Given the description of an element on the screen output the (x, y) to click on. 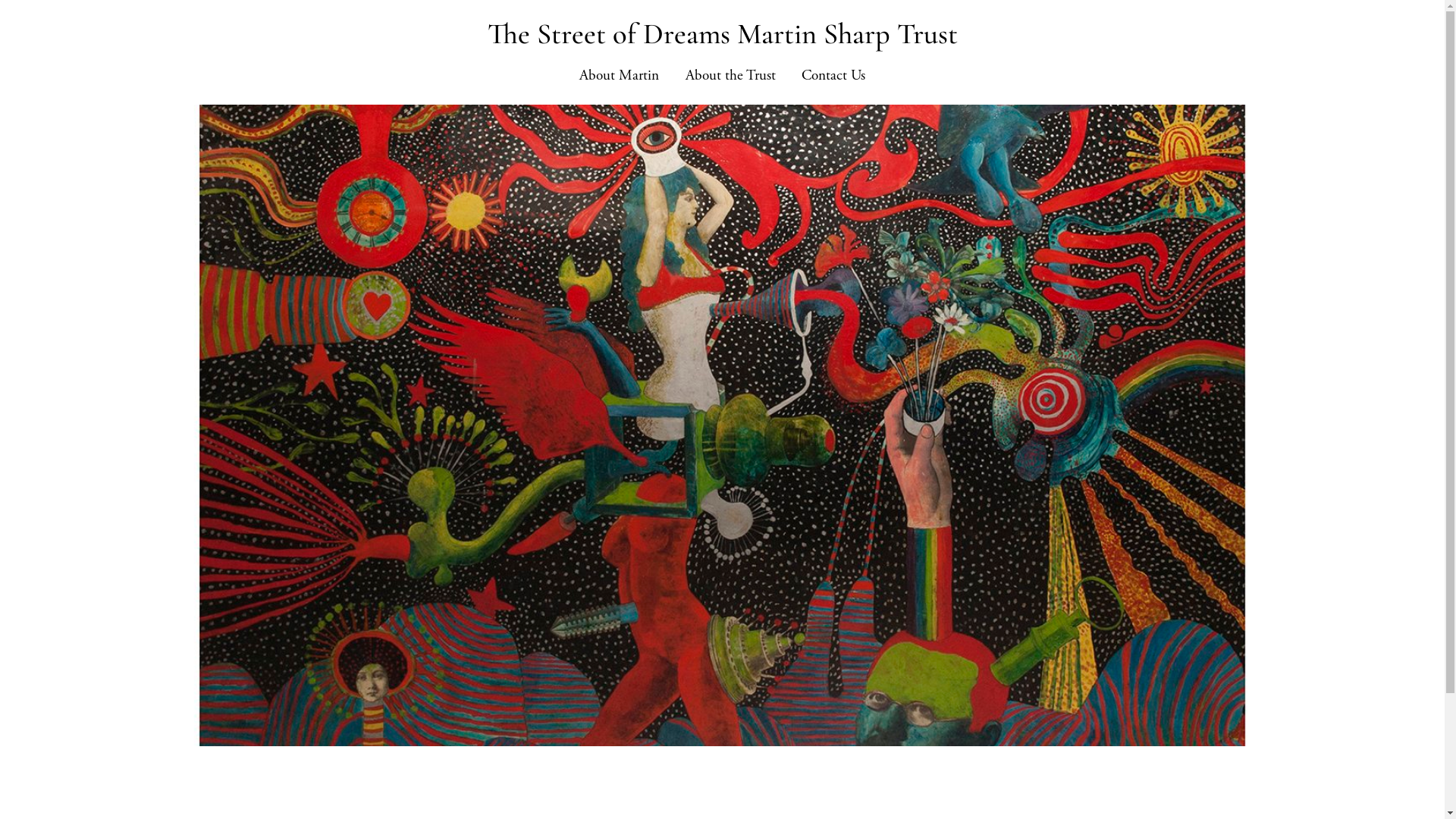
Contact Us Element type: text (833, 75)
The Street of Dreams Martin Sharp Trust Element type: text (721, 33)
About the Trust Element type: text (730, 75)
About Martin Element type: text (618, 75)
